Given the description of an element on the screen output the (x, y) to click on. 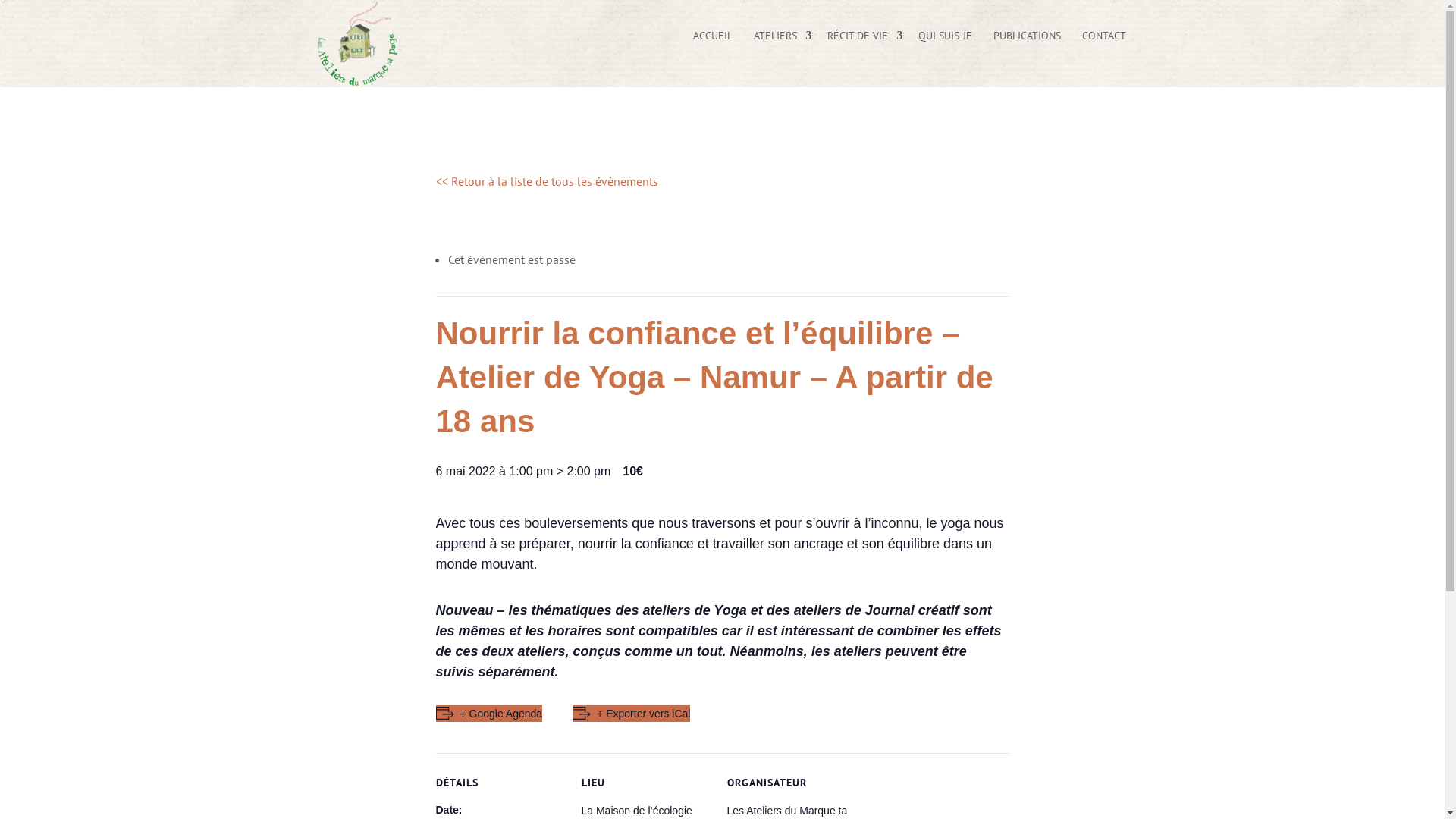
PUBLICATIONS Element type: text (1026, 43)
QUI SUIS-JE Element type: text (944, 43)
+ Exporter vers iCal Element type: text (631, 713)
+ Google Agenda Element type: text (488, 713)
ACCUEIL Element type: text (712, 43)
CONTACT Element type: text (1103, 43)
ATELIERS Element type: text (779, 43)
